Given the description of an element on the screen output the (x, y) to click on. 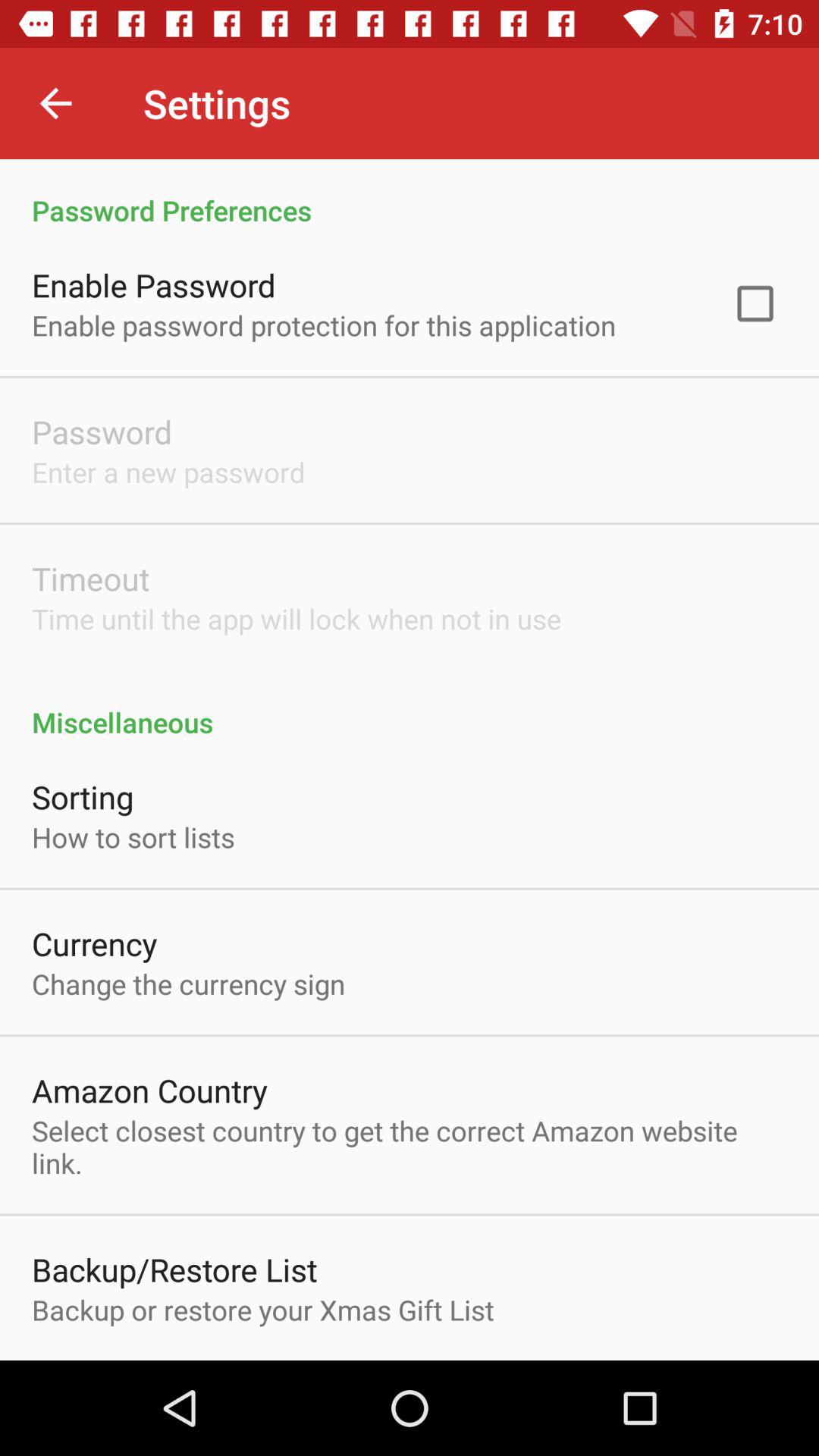
choose icon below the password preferences (755, 303)
